Given the description of an element on the screen output the (x, y) to click on. 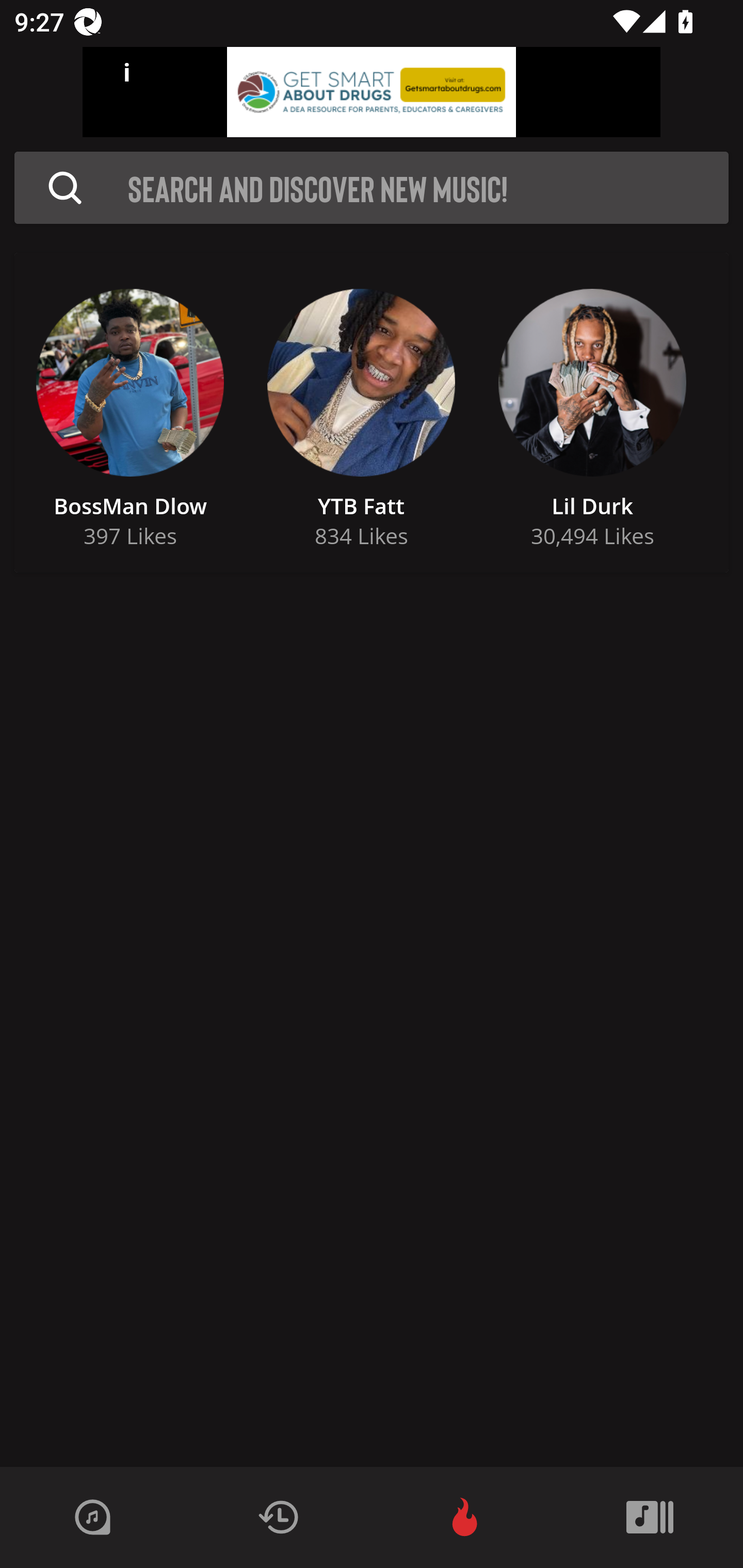
SEARCH AND DISCOVER NEW MUSIC! (377, 188)
Description (64, 188)
Description BossMan Dlow 397 Likes (129, 413)
Description YTB Fatt 834 Likes (360, 413)
Description Lil Durk 30,494 Likes (591, 413)
